Given the description of an element on the screen output the (x, y) to click on. 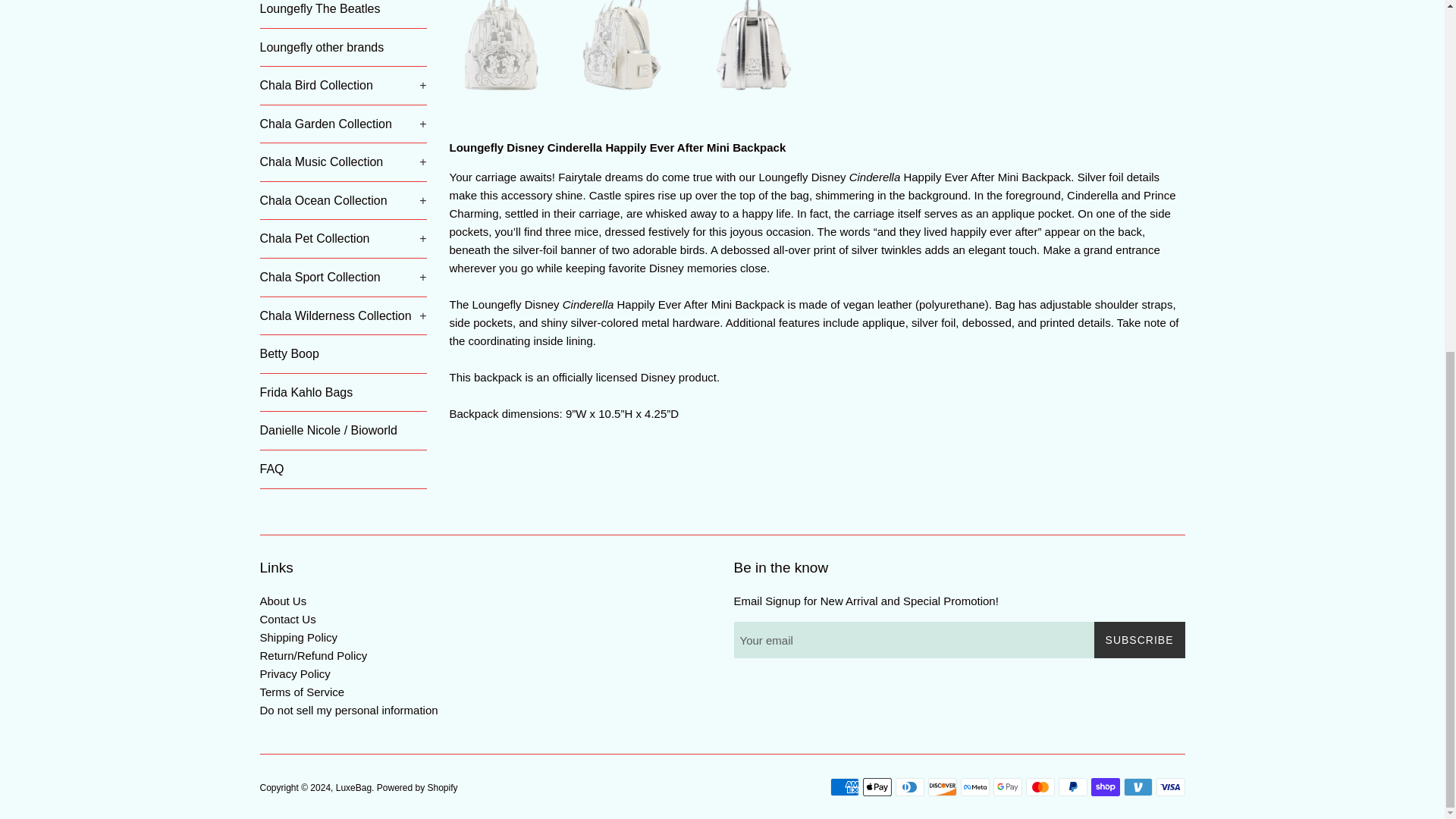
Google Pay (1007, 787)
Diners Club (909, 787)
Venmo (1138, 787)
Loungefly The Beatles (342, 13)
Visa (1170, 787)
American Express (844, 787)
Apple Pay (877, 787)
Discover (942, 787)
Loungefly other brands (342, 47)
Meta Pay (973, 787)
